Given the description of an element on the screen output the (x, y) to click on. 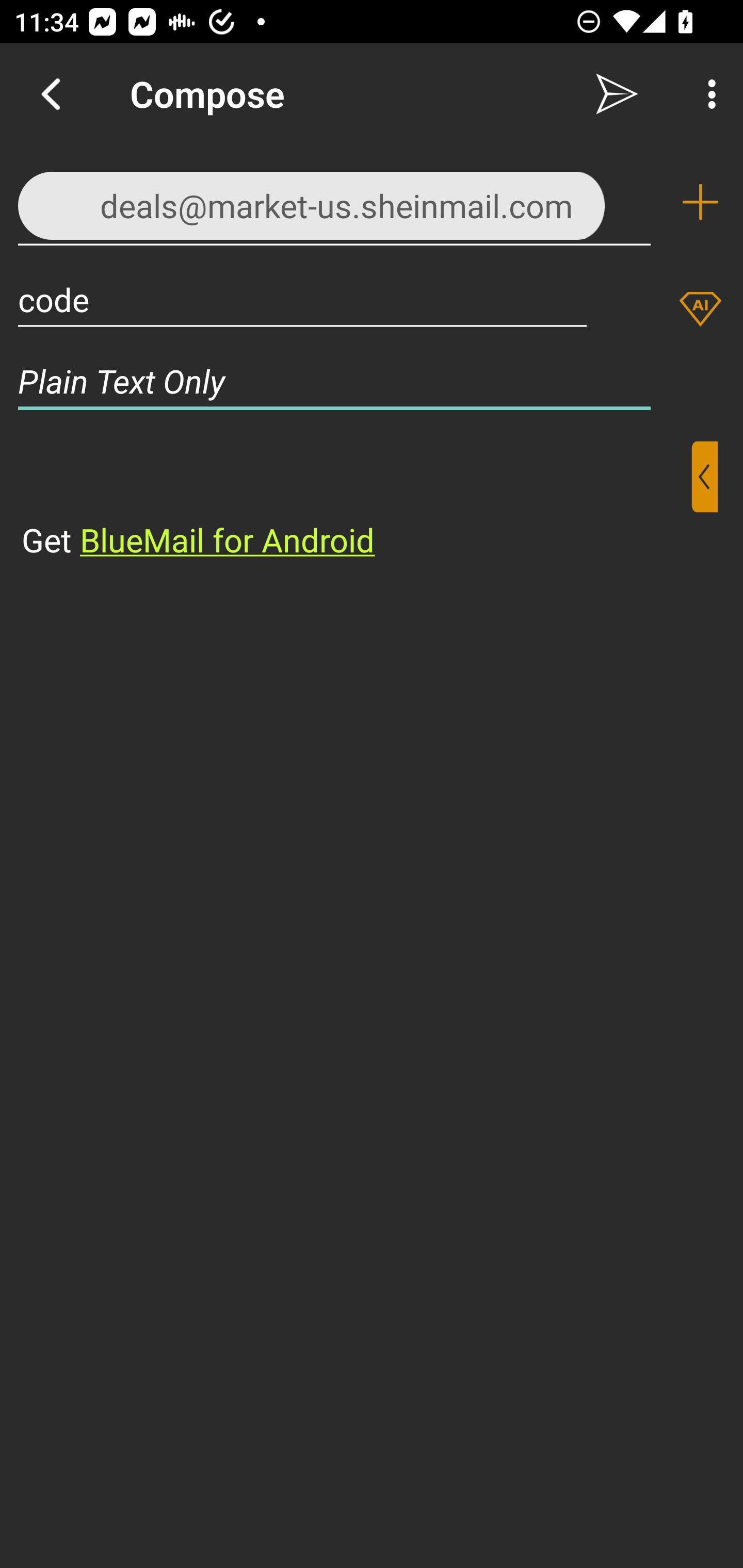
Navigate up (50, 93)
Send (616, 93)
More Options (706, 93)
<deals@market-us.sheinmail.com>,  (334, 201)
Add recipient (To) (699, 201)
code (302, 299)
Plain Text Only (371, 380)


⁣Get BlueMail for Android ​ (355, 501)
